Given the description of an element on the screen output the (x, y) to click on. 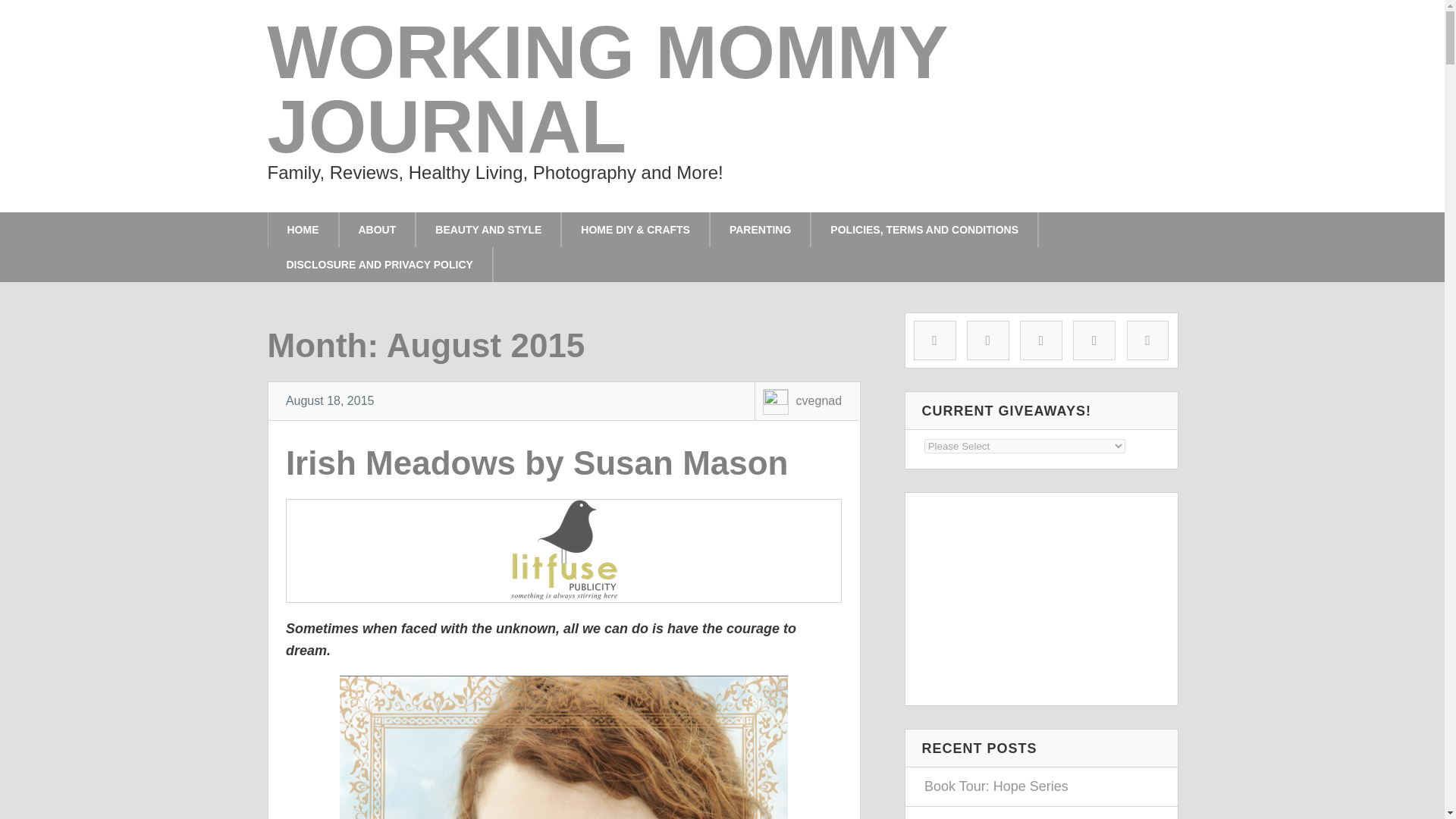
Working Mommy Journal (606, 89)
PARENTING (760, 229)
Irish Meadows by Susan Mason (537, 462)
ABOUT (377, 229)
WORKING MOMMY JOURNAL (606, 89)
HOME (301, 229)
DISCLOSURE AND PRIVACY POLICY (379, 264)
POLICIES, TERMS AND CONDITIONS (924, 229)
BEAUTY AND STYLE (488, 229)
cvegnad (819, 400)
